Given the description of an element on the screen output the (x, y) to click on. 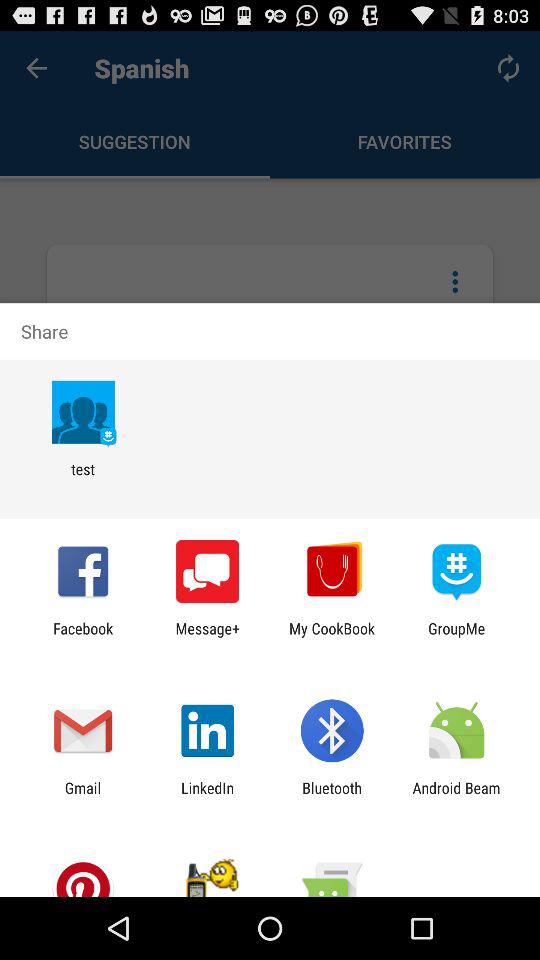
launch icon to the left of the message+ (83, 637)
